Given the description of an element on the screen output the (x, y) to click on. 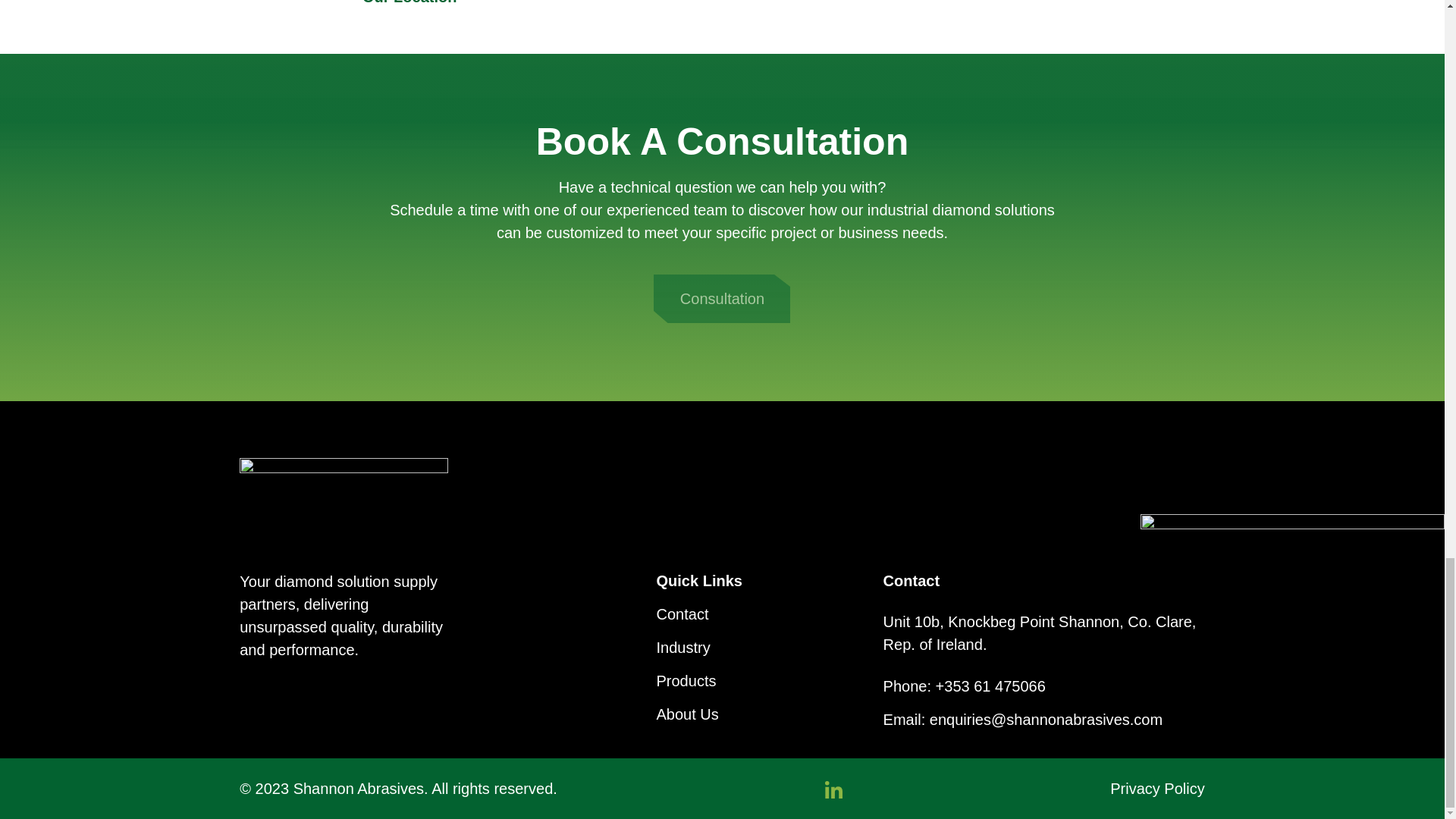
Industry (683, 647)
Privacy Policy (1157, 788)
About Us (686, 713)
Products (686, 680)
Consultation (721, 298)
Contact (681, 614)
Our Location (409, 4)
